Given the description of an element on the screen output the (x, y) to click on. 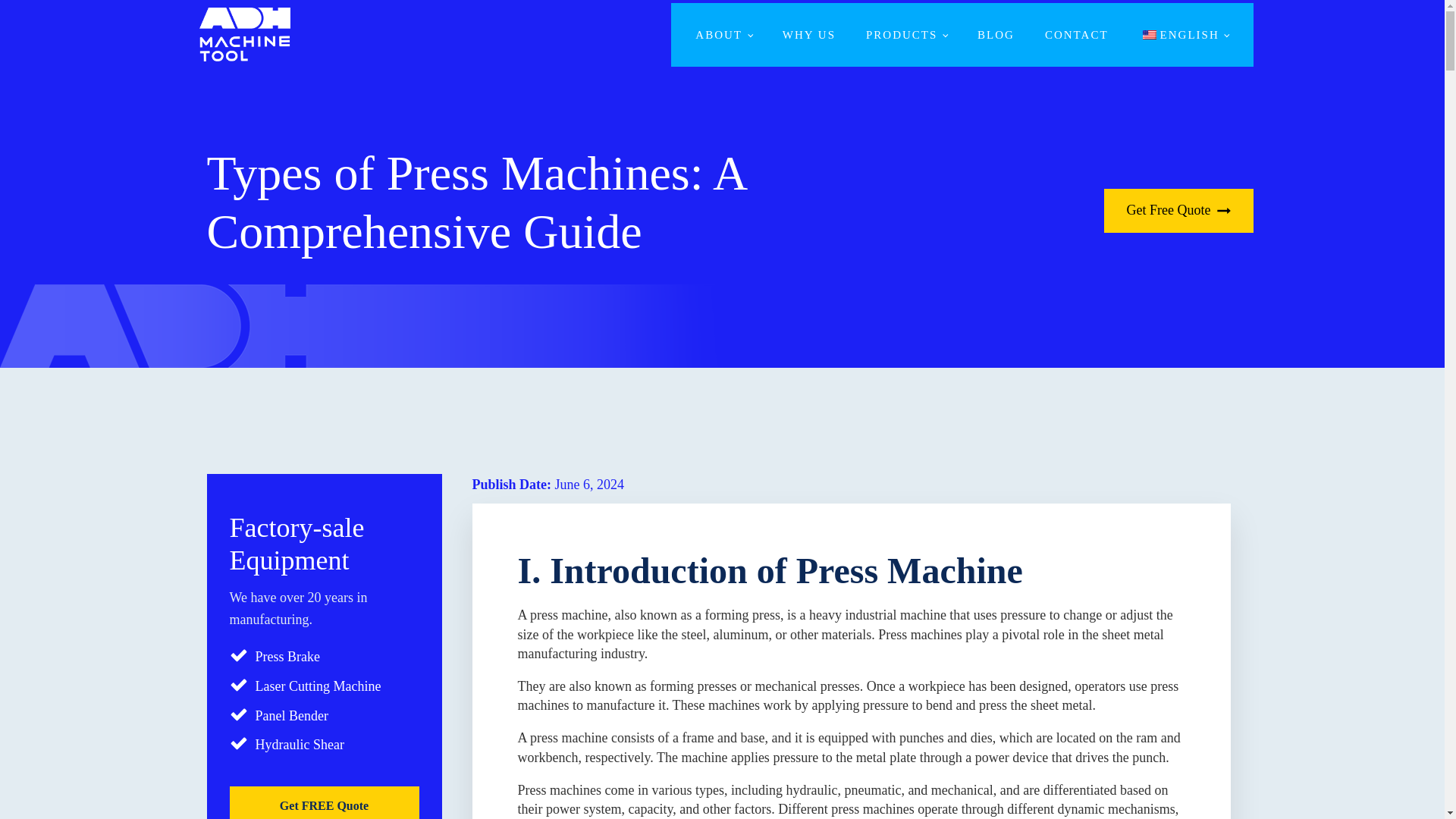
PRODUCTS (906, 34)
BLOG (995, 34)
ENGLISH (1184, 34)
ABOUT (723, 34)
English (1149, 34)
CONTACT (1076, 34)
WHY US (808, 34)
Get FREE Quote (323, 802)
Get Free Quote (1178, 210)
